Given the description of an element on the screen output the (x, y) to click on. 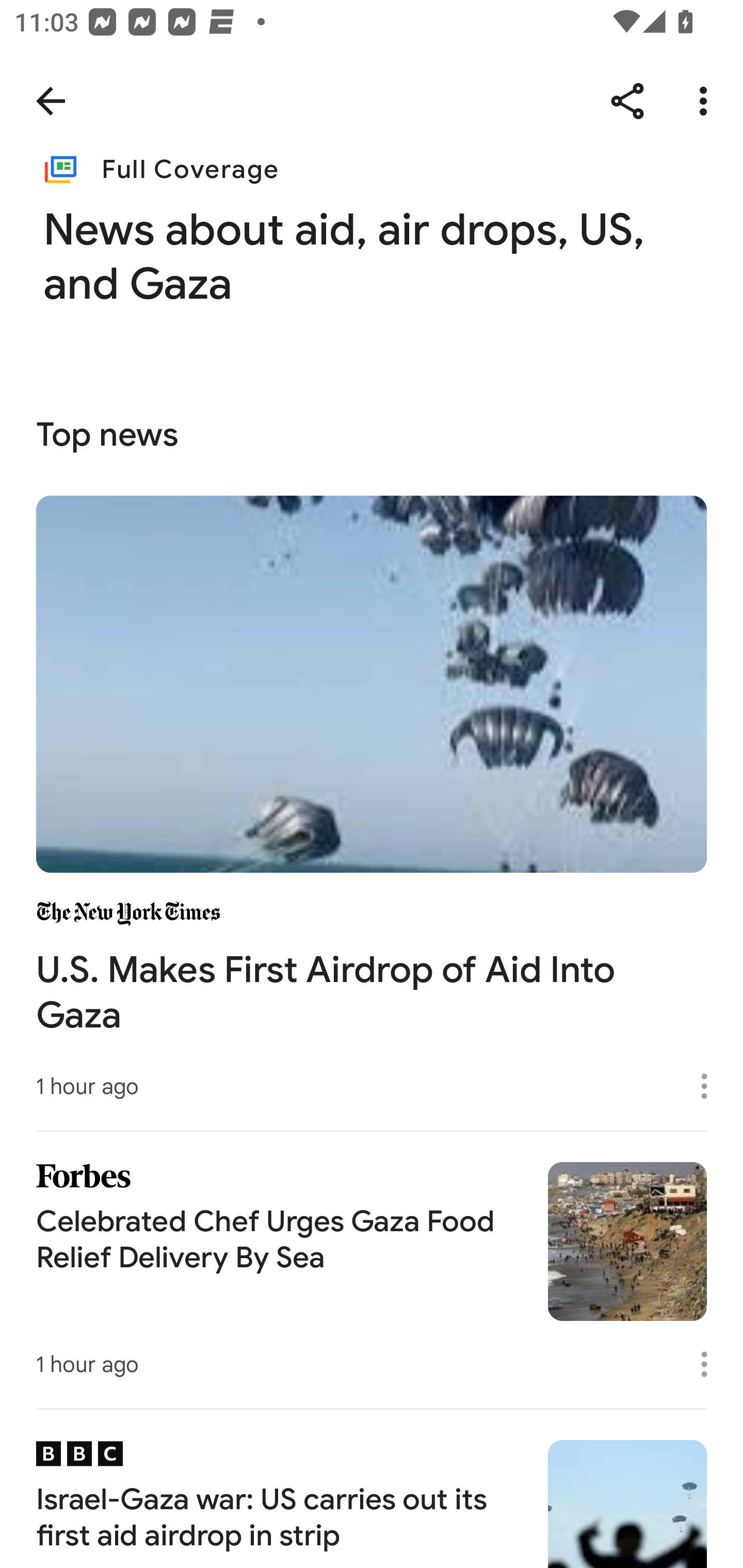
Navigate up (50, 101)
Share (626, 101)
More options (706, 101)
More options (711, 1085)
More options (711, 1364)
